Given the description of an element on the screen output the (x, y) to click on. 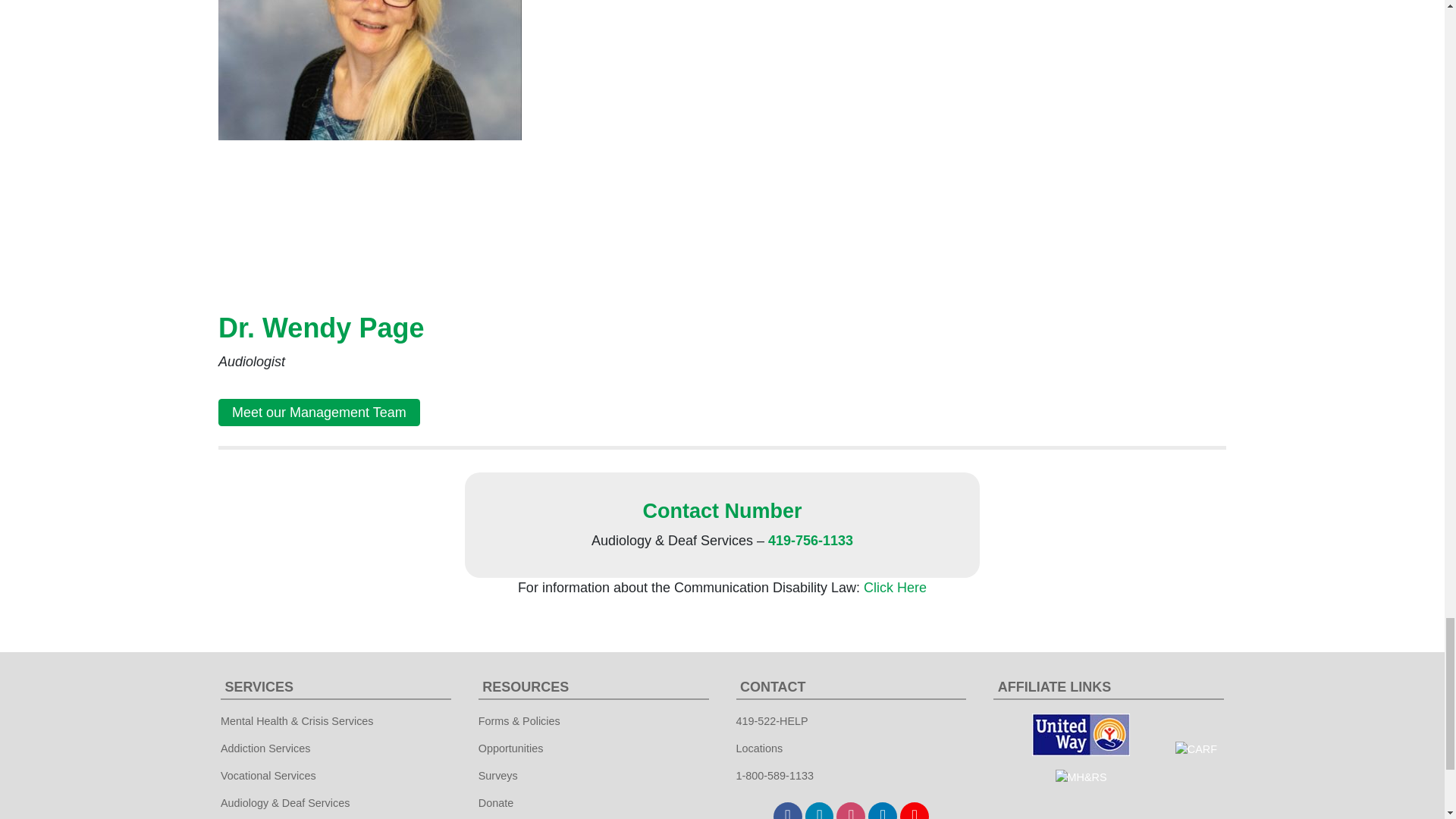
Locations (758, 747)
Vocational Services (268, 774)
419-756-1133 (810, 540)
Meet our Management Team (319, 411)
Instagram (849, 810)
Twitter (819, 810)
Catalyst Headshots (369, 142)
Click Here (894, 587)
LinkedIn (881, 810)
Surveys (497, 774)
YouTube (913, 810)
Opportunities (510, 747)
Donate (496, 801)
Addiction Services (265, 747)
419-522-HELP (771, 719)
